Given the description of an element on the screen output the (x, y) to click on. 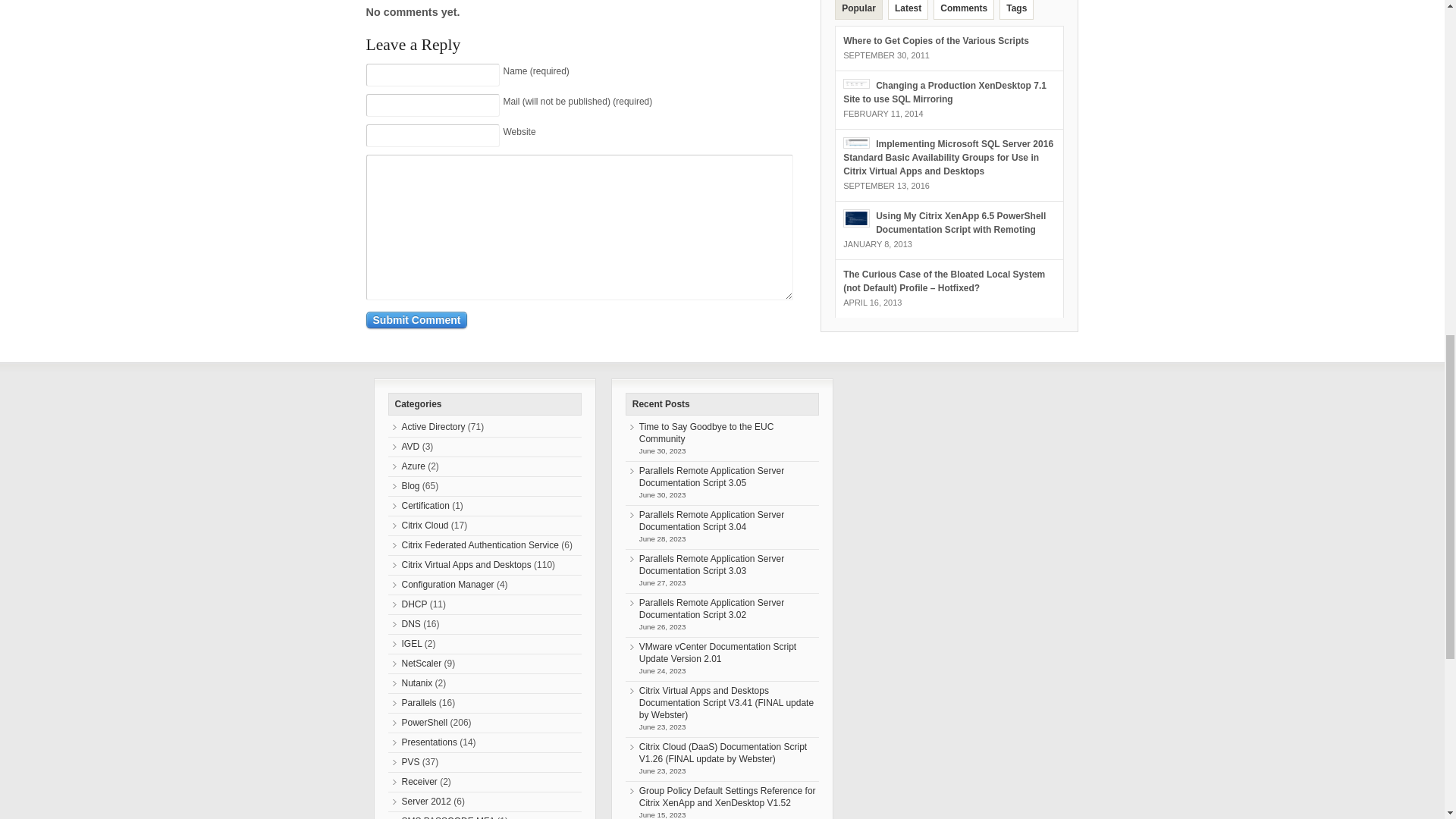
Submit Comment (416, 320)
